Given the description of an element on the screen output the (x, y) to click on. 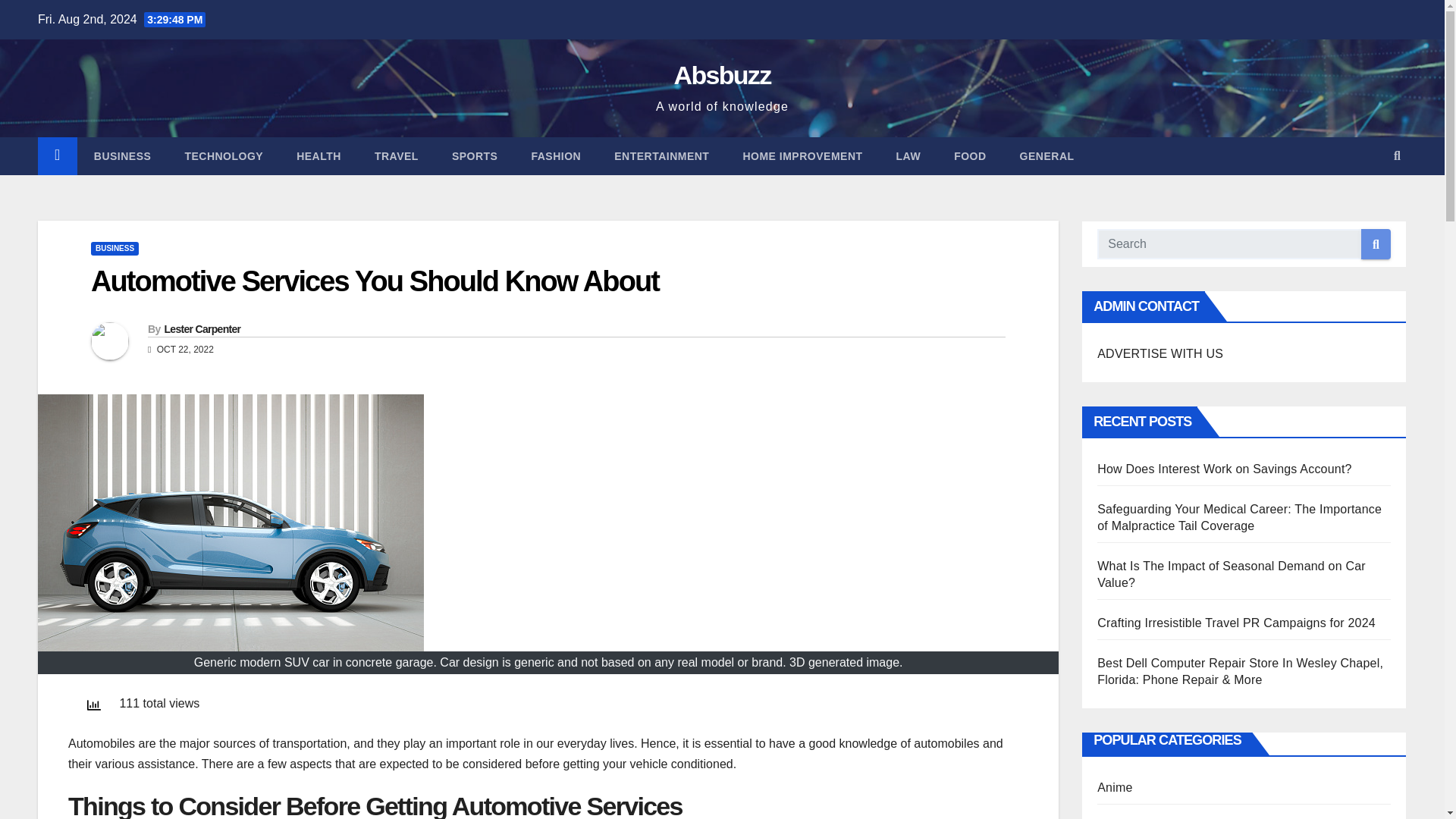
BUSINESS (114, 248)
Business (122, 156)
ENTERTAINMENT (660, 156)
Law (908, 156)
SPORTS (475, 156)
Fashion (554, 156)
Automotive Services You Should Know About (374, 281)
Absbuzz (722, 74)
Food (970, 156)
TECHNOLOGY (223, 156)
FASHION (554, 156)
Entertainment (660, 156)
TRAVEL (396, 156)
FOOD (970, 156)
Sports (475, 156)
